Given the description of an element on the screen output the (x, y) to click on. 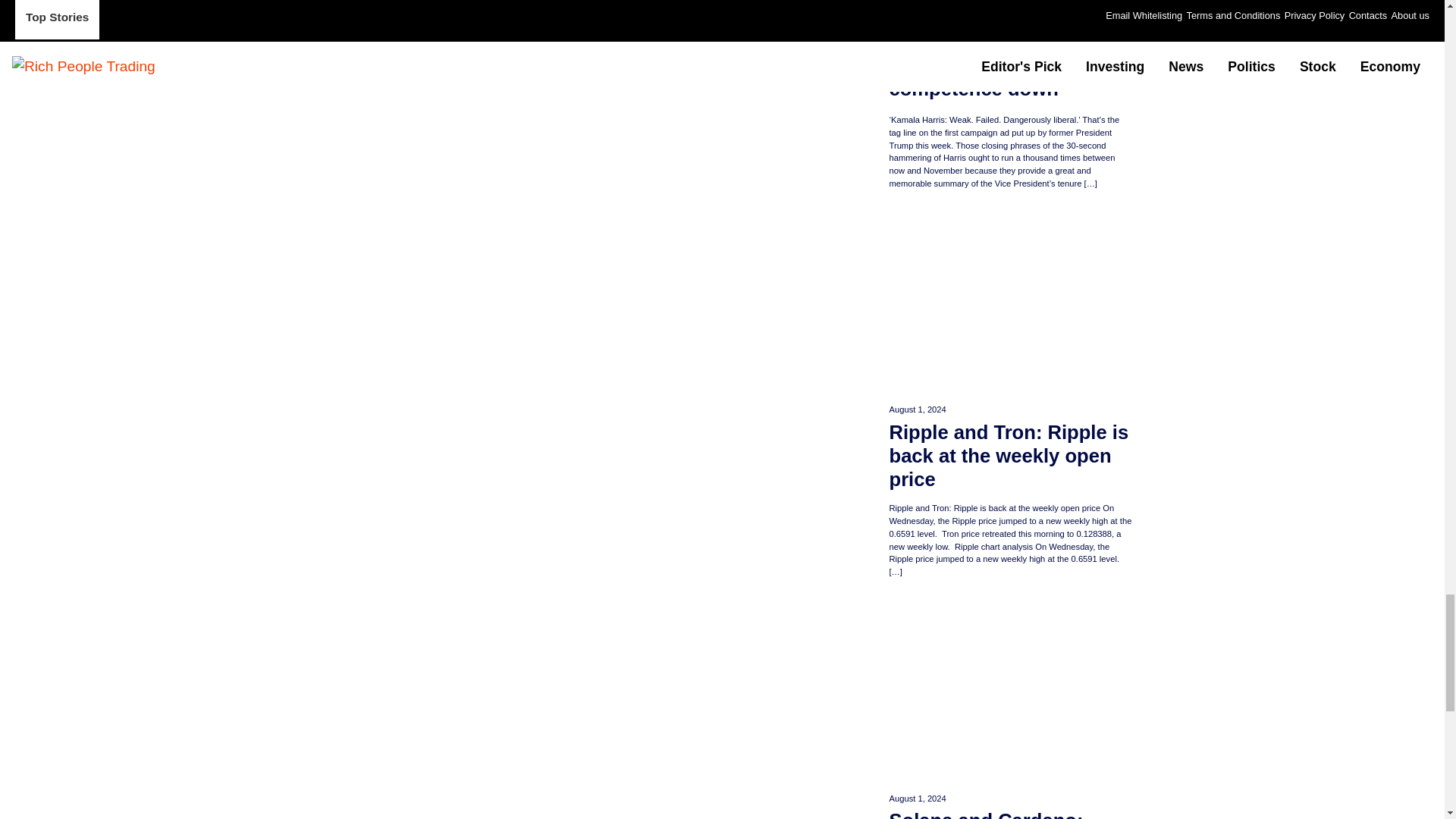
Ripple and Tron: Ripple is back at the weekly open price (1009, 455)
Morning Glory: Defining competence down (1009, 78)
